Given the description of an element on the screen output the (x, y) to click on. 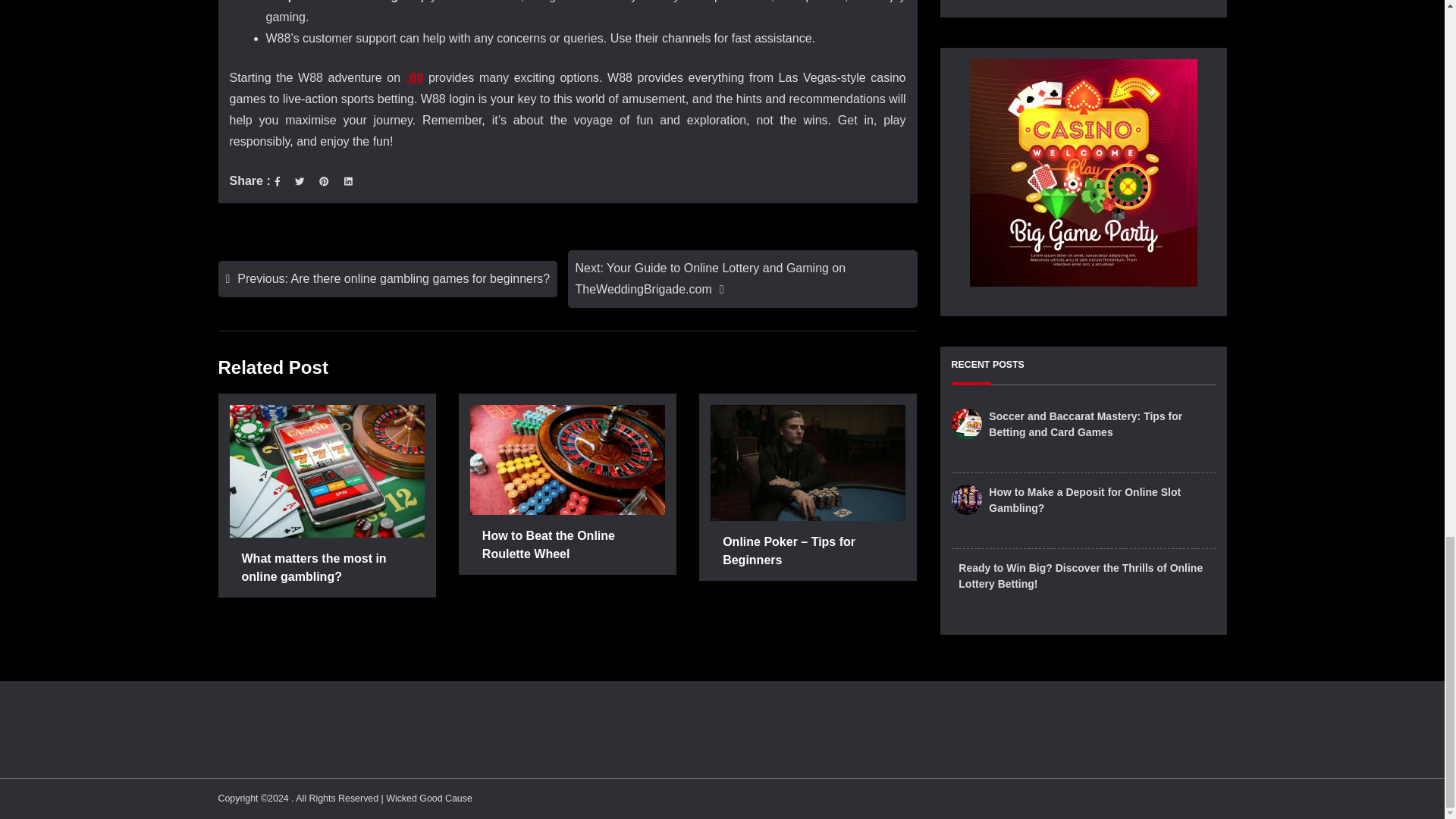
What matters the most in online gambling? (326, 569)
How to Beat the Online Roulette Wheel (566, 546)
Previous: Are there online gambling games for beginners? (387, 279)
